Given the description of an element on the screen output the (x, y) to click on. 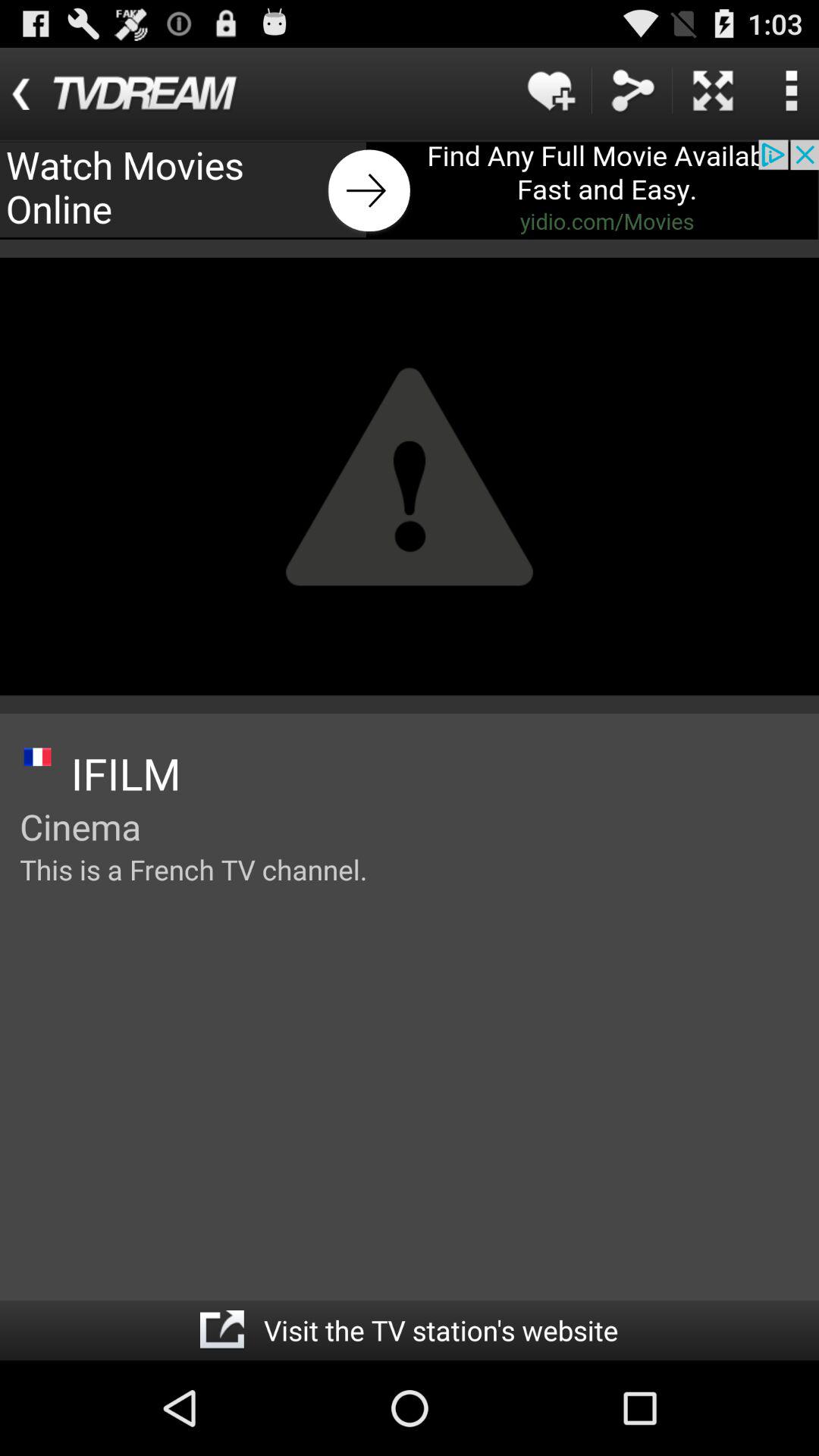
open external link (221, 1330)
